Given the description of an element on the screen output the (x, y) to click on. 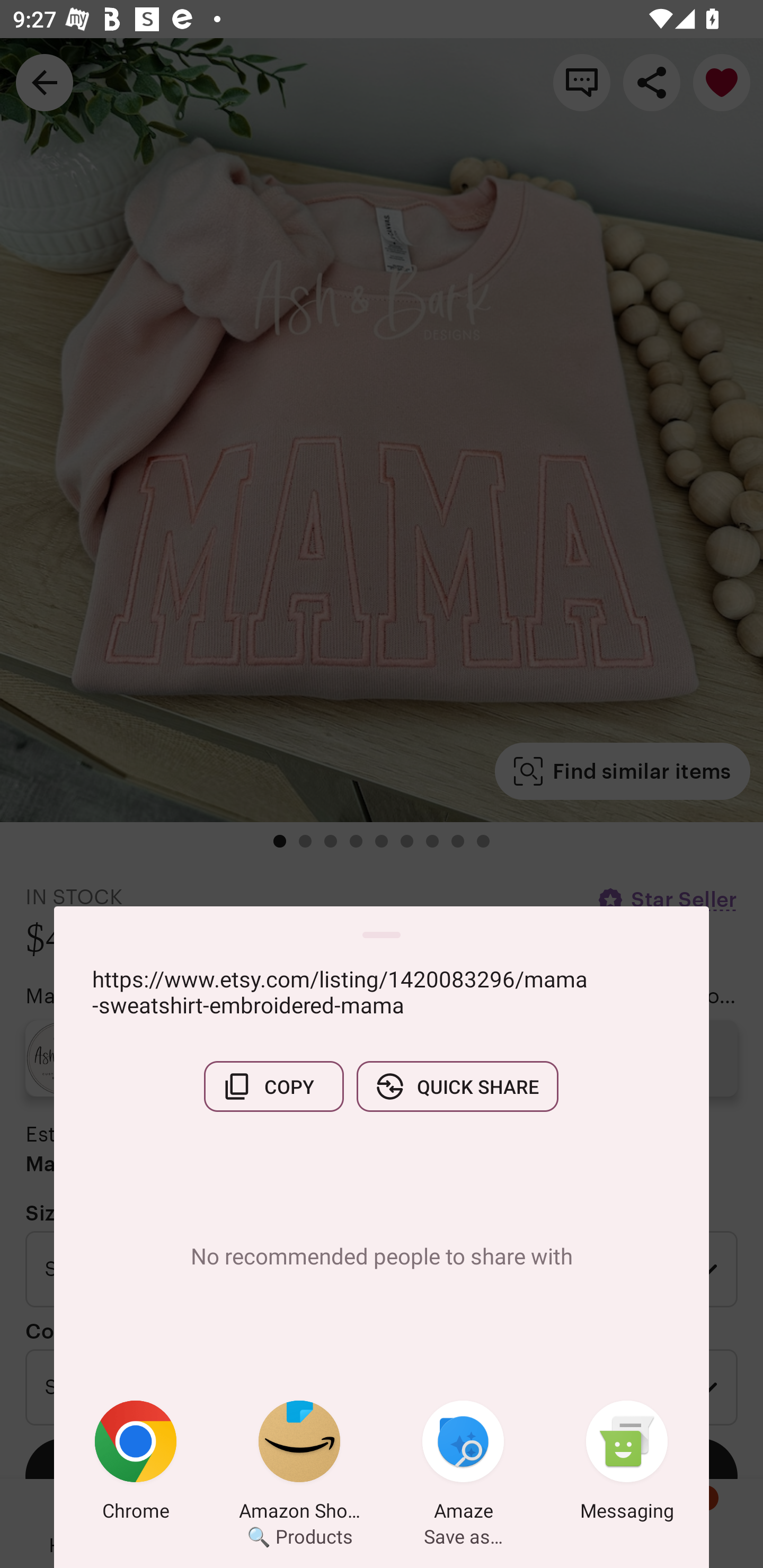
COPY (273, 1086)
QUICK SHARE (457, 1086)
Chrome (135, 1463)
Amazon Shopping 🔍 Products (299, 1463)
Amaze Save as… (463, 1463)
Messaging (626, 1463)
